Given the description of an element on the screen output the (x, y) to click on. 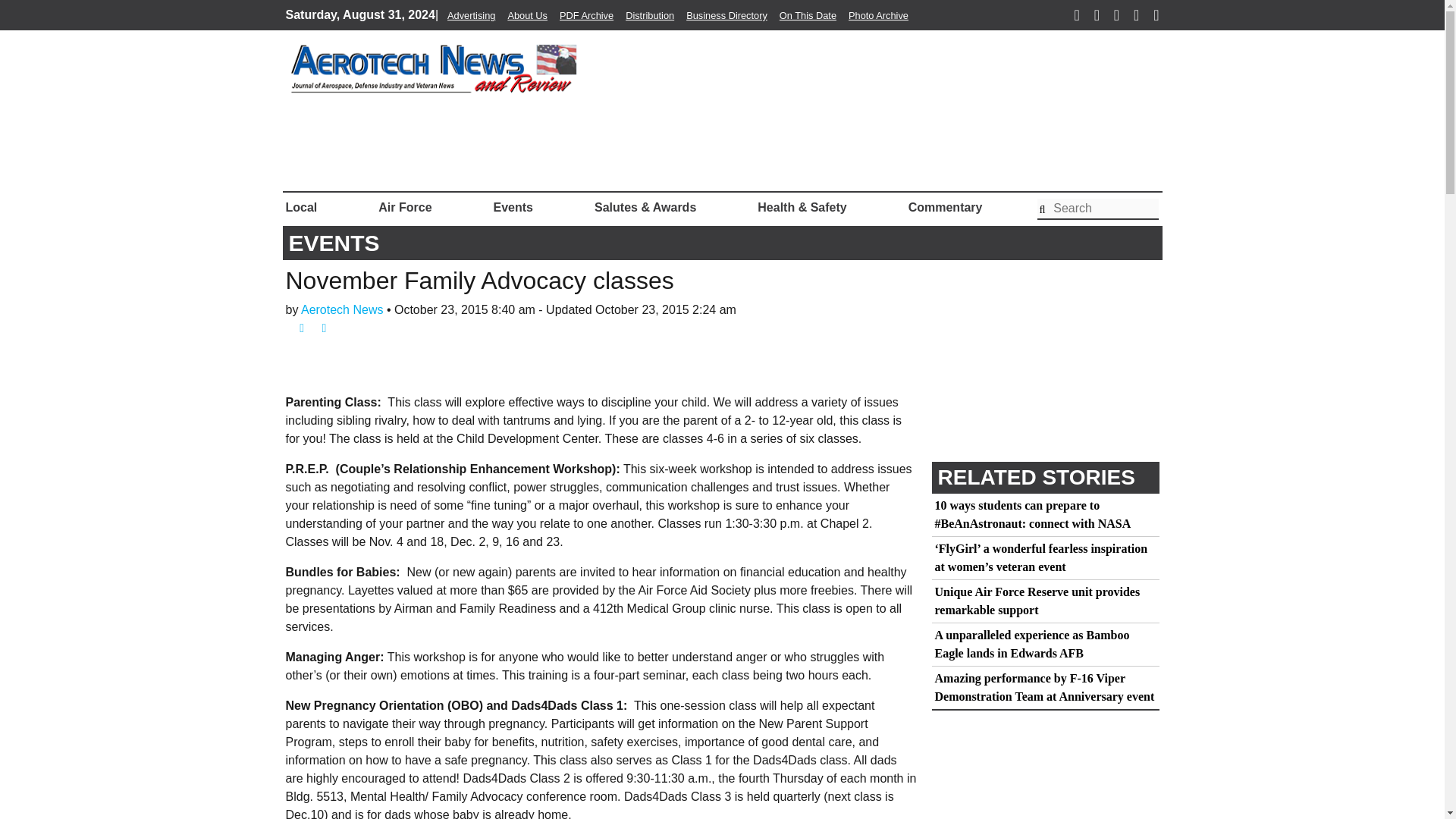
Air Force (405, 207)
Local (304, 207)
Search (1097, 209)
Post to Twitter (318, 327)
Business Directory (726, 15)
Post to Reddit (338, 327)
Aerotech News (340, 309)
Events (512, 207)
On This Date (806, 15)
Distribution (650, 15)
